Given the description of an element on the screen output the (x, y) to click on. 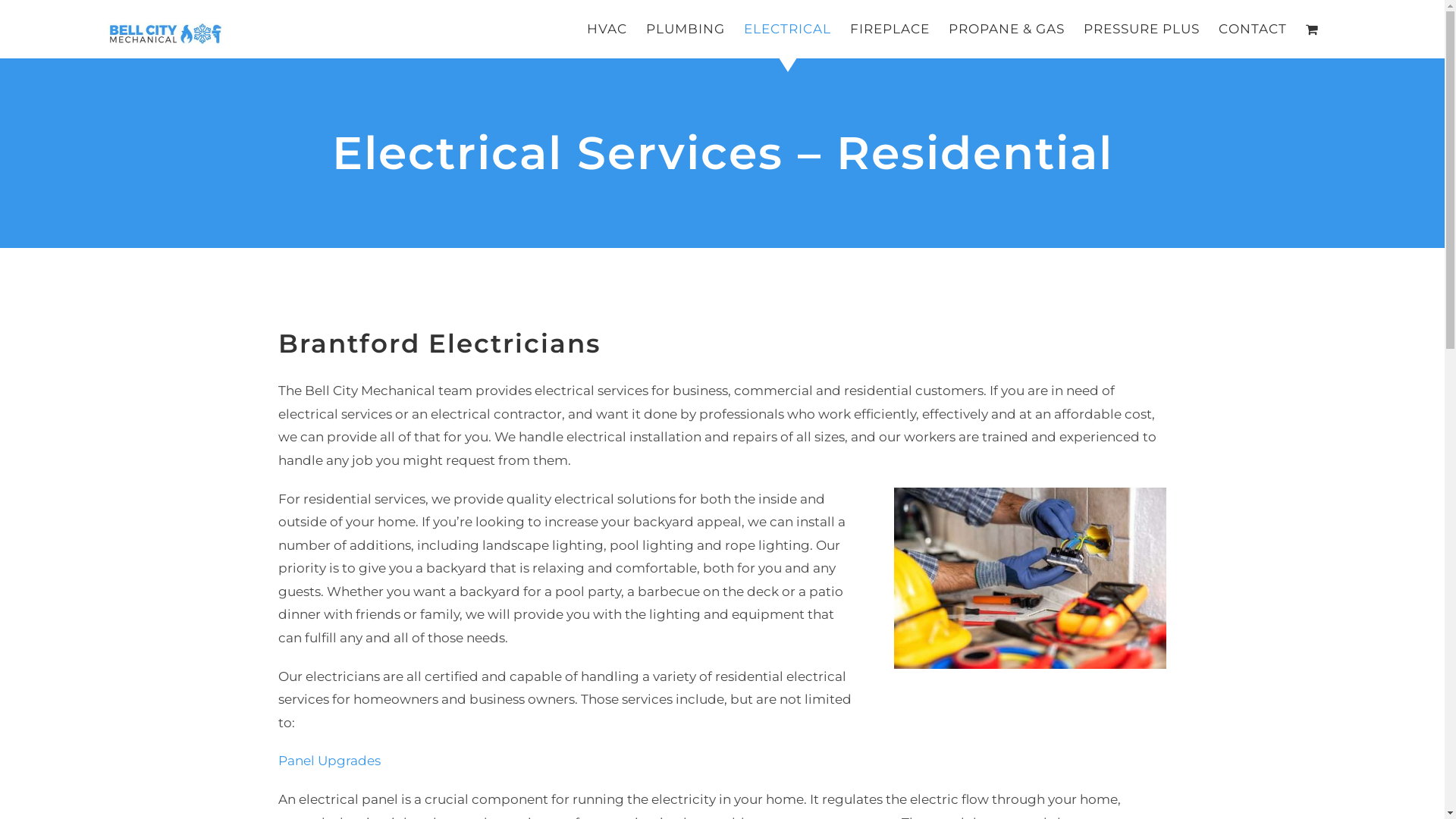
PROPANE & GAS Element type: text (1006, 29)
HVAC Element type: text (606, 29)
FIREPLACE Element type: text (889, 29)
PLUMBING Element type: text (685, 29)
PRESSURE PLUS Element type: text (1141, 29)
CONTACT Element type: text (1252, 29)
ELECTRICAL Element type: text (787, 29)
Panel Upgrades Element type: text (329, 760)
Residential Electric Outlet Element type: hover (1030, 577)
